Given the description of an element on the screen output the (x, y) to click on. 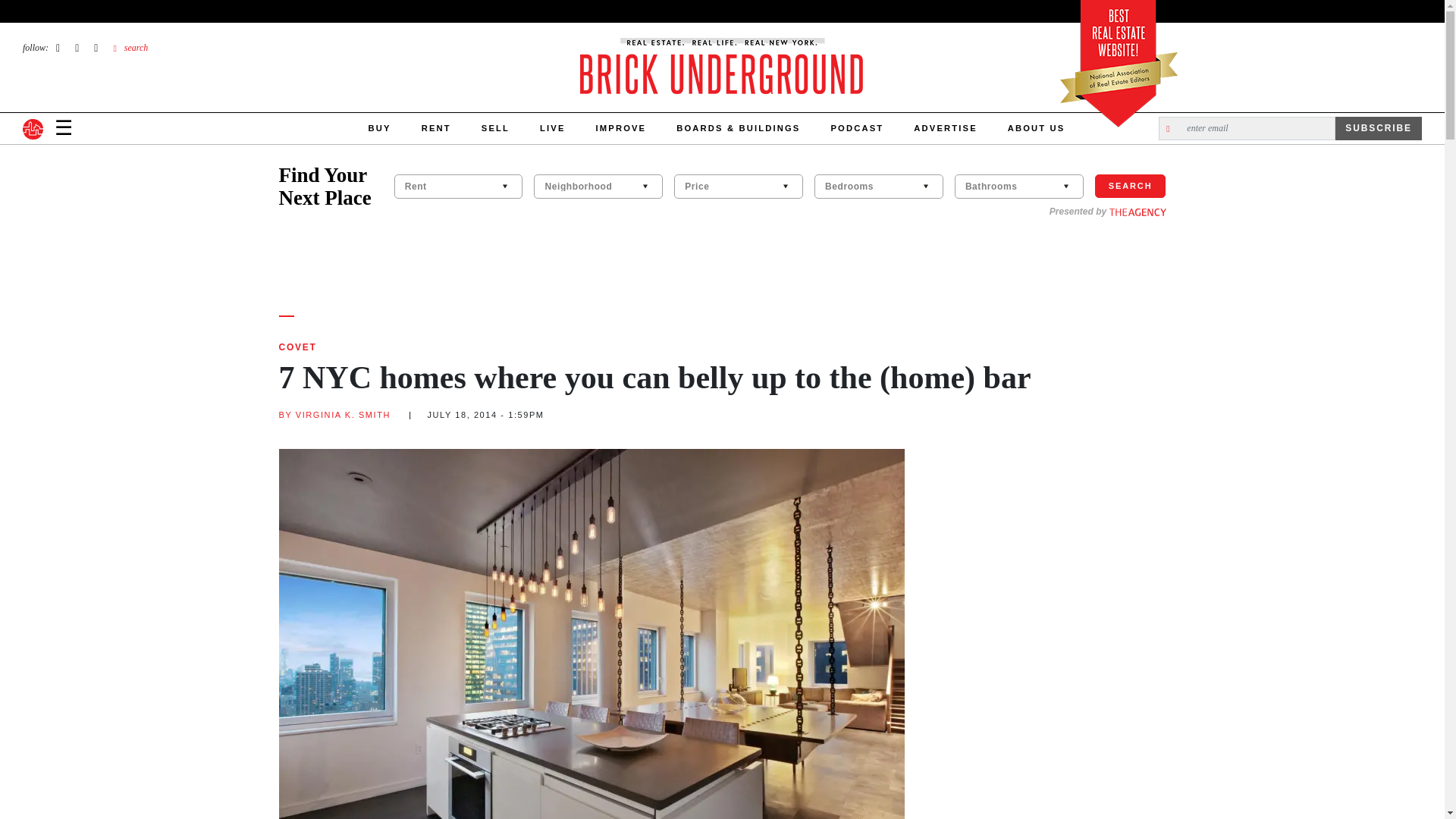
RENT (435, 128)
BUY (379, 128)
